Given the description of an element on the screen output the (x, y) to click on. 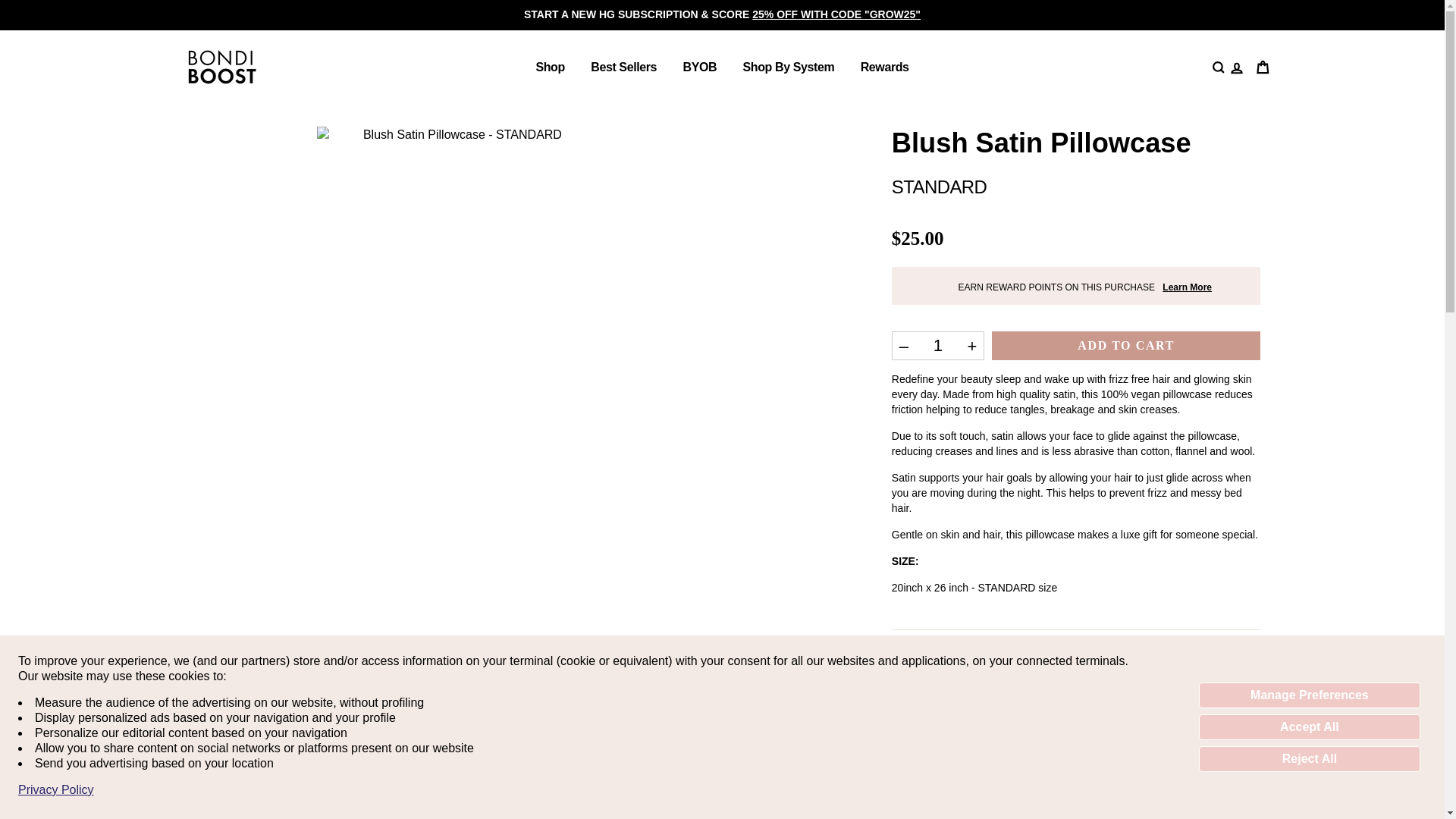
Reject All (1309, 759)
Accept All (1309, 727)
Manage Preferences (1309, 695)
Privacy Policy (55, 789)
